Given the description of an element on the screen output the (x, y) to click on. 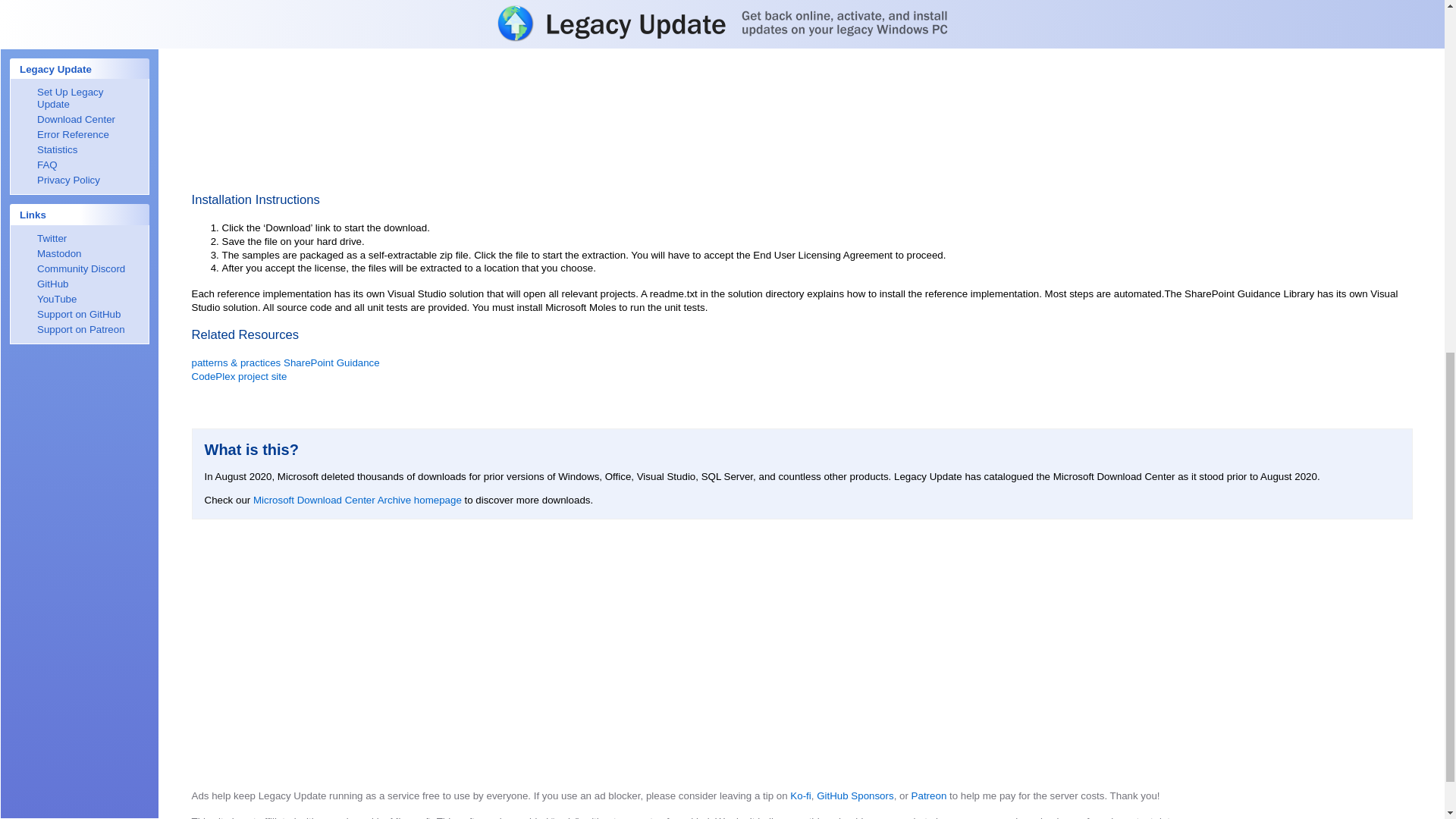
Visual Studio 2010 Moles x64 - Isolation Framework for .NET (358, 8)
Ko-fi (800, 795)
Patreon (929, 795)
GitHub Sponsors (854, 795)
Microsoft Download Center Archive homepage (357, 500)
CodePlex project site (238, 376)
